Given the description of an element on the screen output the (x, y) to click on. 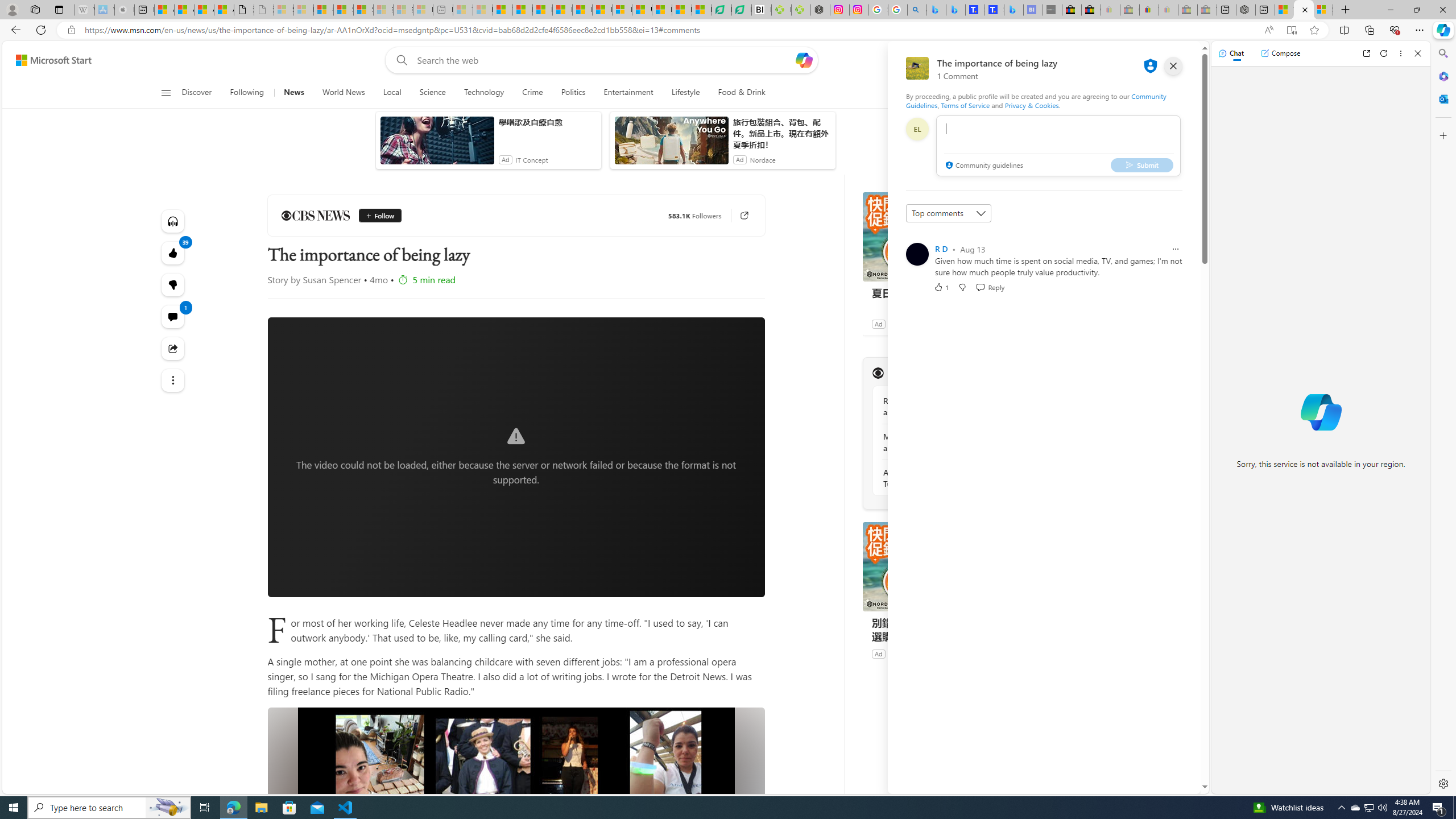
39 (172, 284)
Visit CBS News website (1018, 372)
US Heat Deaths Soared To Record High Last Year (641, 9)
Shangri-La Bangkok, Hotel reviews and Room rates (994, 9)
1 Like (940, 287)
Sort comments by (948, 212)
Chat (1231, 52)
Profile Picture (916, 254)
CBS News (315, 215)
